Given the description of an element on the screen output the (x, y) to click on. 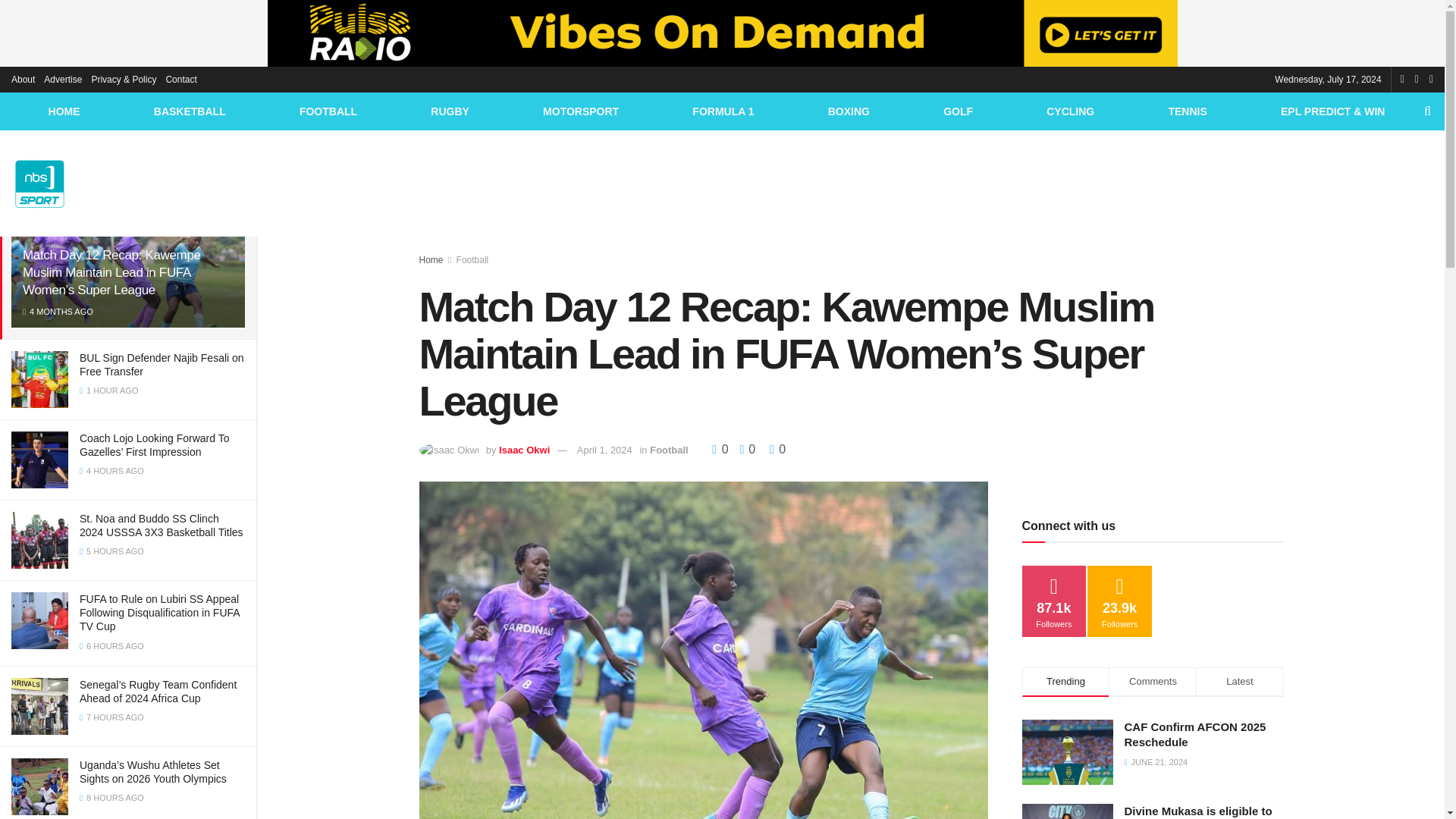
FOOTBALL (327, 111)
HOME (63, 111)
FORMULA 1 (723, 111)
About (22, 79)
Advertise (62, 79)
BUL Sign Defender Najib Fesali on Free Transfer (162, 364)
BASKETBALL (189, 111)
MOTORSPORT (580, 111)
Contact (180, 79)
RUGBY (450, 111)
St. Noa and Buddo SS Clinch 2024 USSSA 3X3 Basketball Titles (161, 525)
BOXING (847, 111)
